Given the description of an element on the screen output the (x, y) to click on. 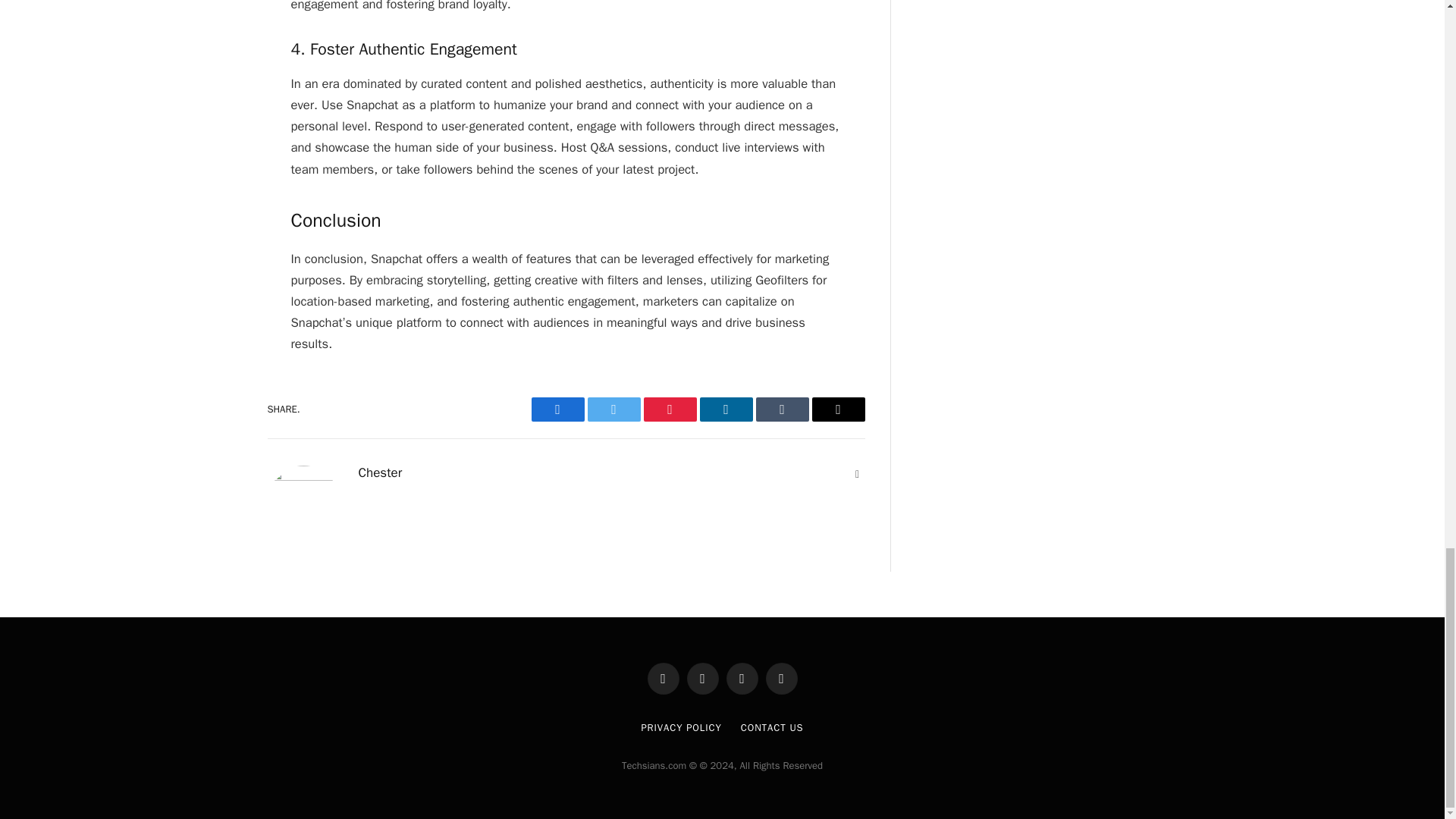
LinkedIn (725, 409)
Twitter (613, 409)
Facebook (557, 409)
Pinterest (669, 409)
